Given the description of an element on the screen output the (x, y) to click on. 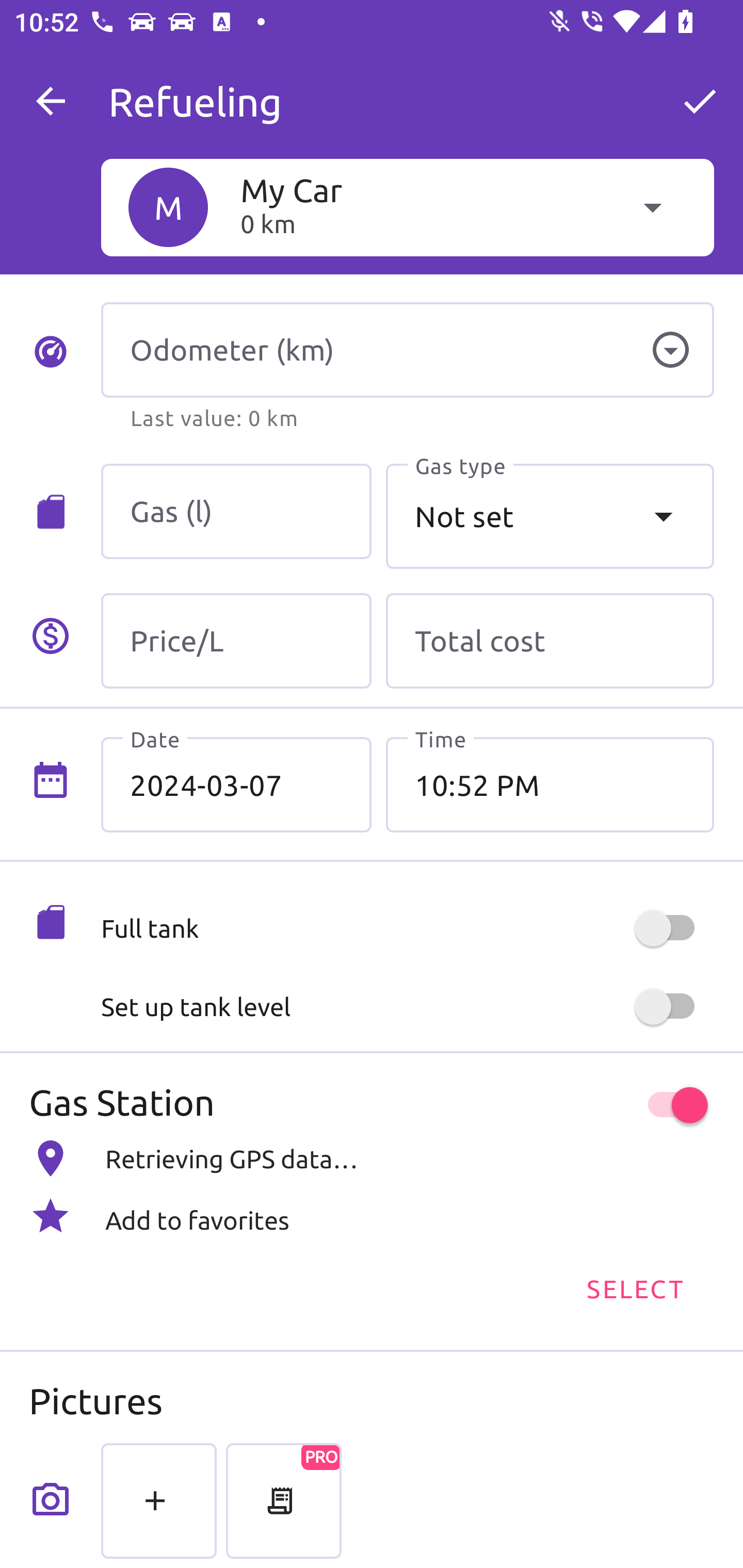
Navigate up (50, 101)
OK (699, 101)
M My Car 0 km (407, 206)
Odometer (km) (407, 350)
Odometer (670, 349)
Gas (l) (236, 511)
Not set (549, 516)
Price/L (236, 640)
Total cost  (549, 640)
2024-03-07 (236, 784)
10:52 PM (549, 784)
Full tank (407, 928)
Set up tank level (407, 1006)
Add to favorites (371, 1215)
SELECT (634, 1287)
